Given the description of an element on the screen output the (x, y) to click on. 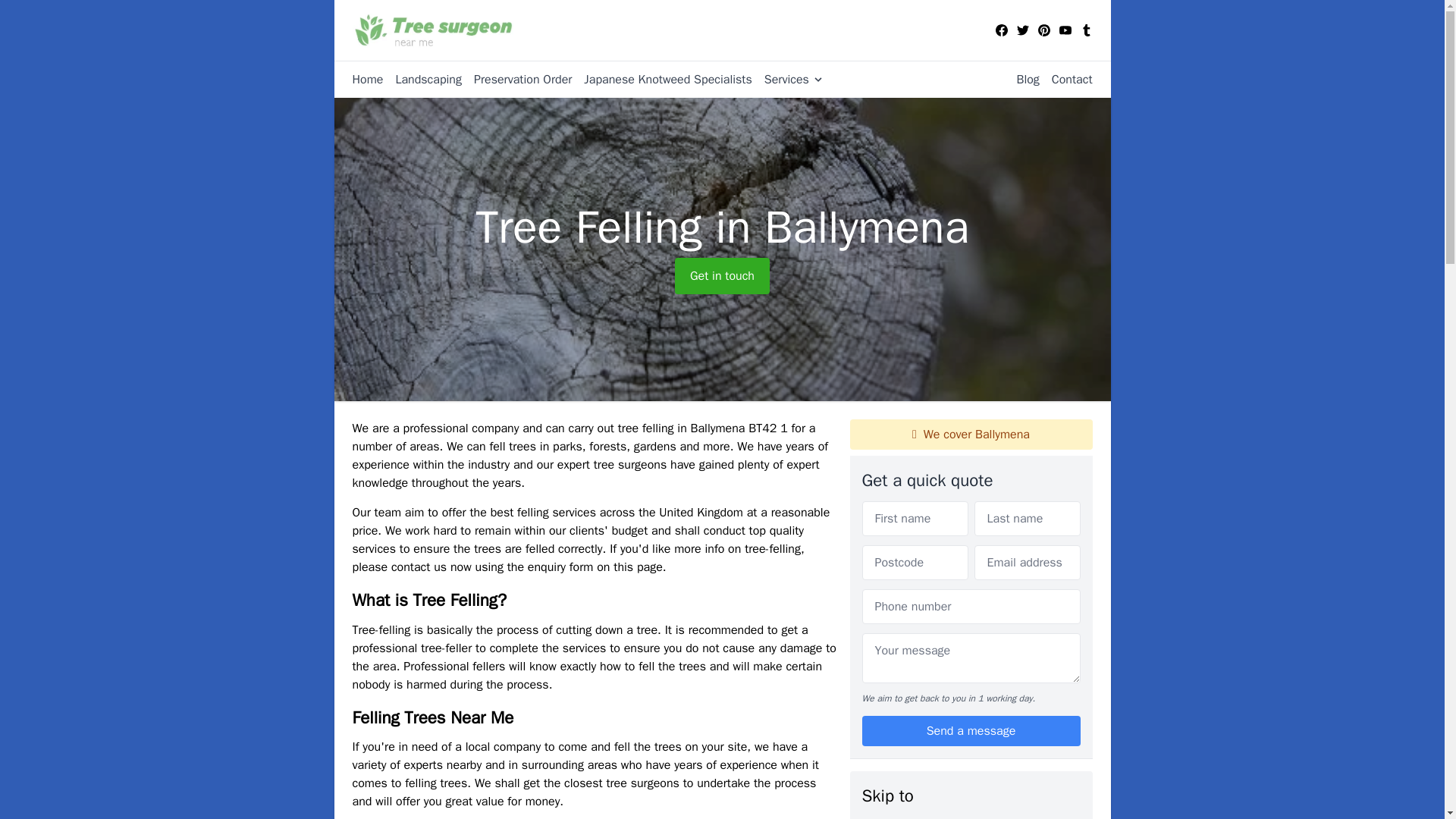
Contact (1066, 79)
Landscaping (421, 79)
Get in touch (722, 275)
Japanese Knotweed Specialists (661, 79)
Preservation Order (516, 79)
What is Tree Felling? (916, 818)
Home (367, 79)
Services (788, 79)
Blog (1021, 79)
